Given the description of an element on the screen output the (x, y) to click on. 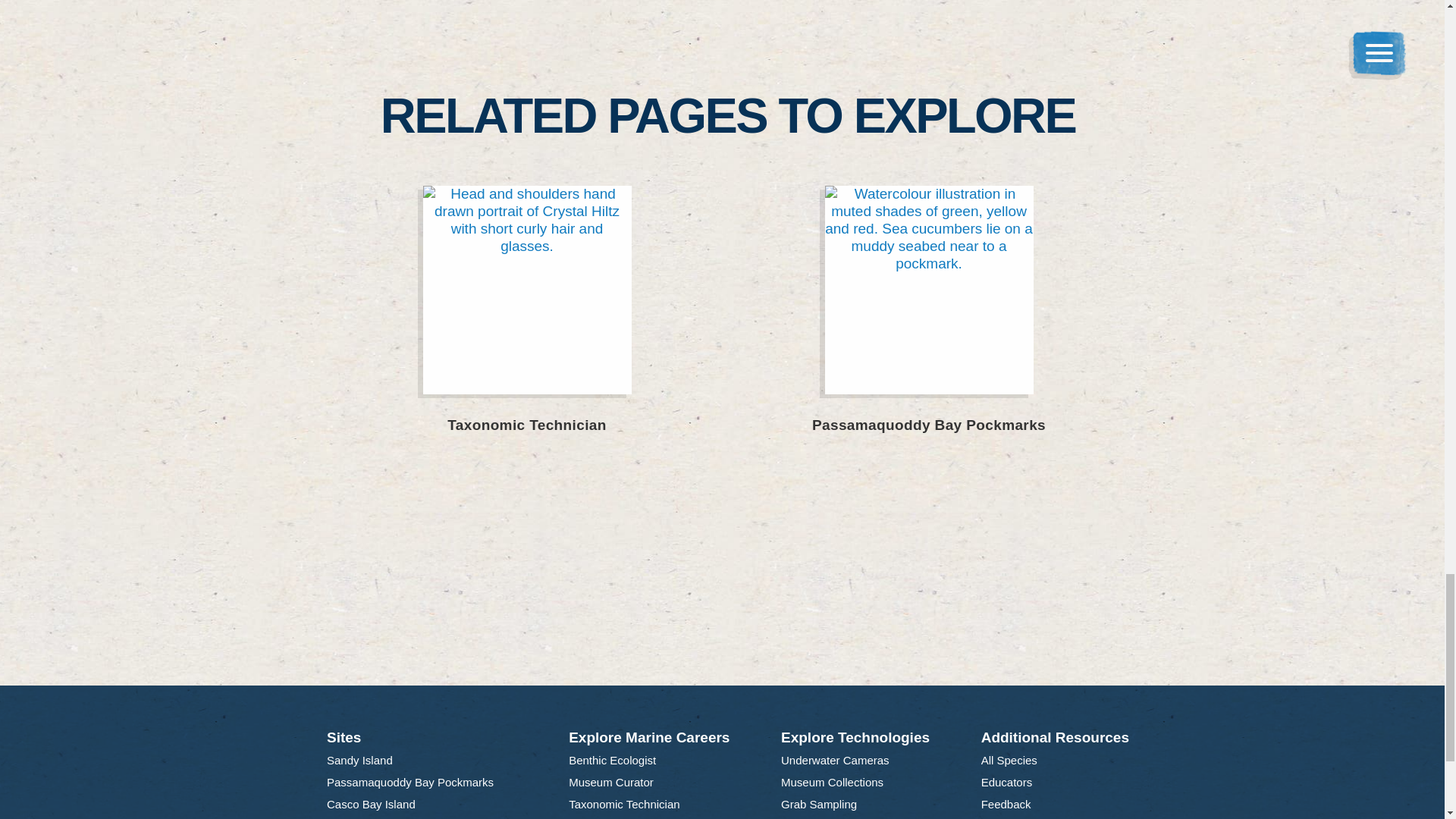
BACK TO TOP (727, 645)
Sandy Island (359, 760)
Passamaquoddy Bay Pockmarks (928, 321)
Taxonomic Technician (526, 321)
BACK TO TOP (727, 645)
Passamaquoddy Bay Pockmarks (410, 782)
Casco Bay Island (371, 804)
